Given the description of an element on the screen output the (x, y) to click on. 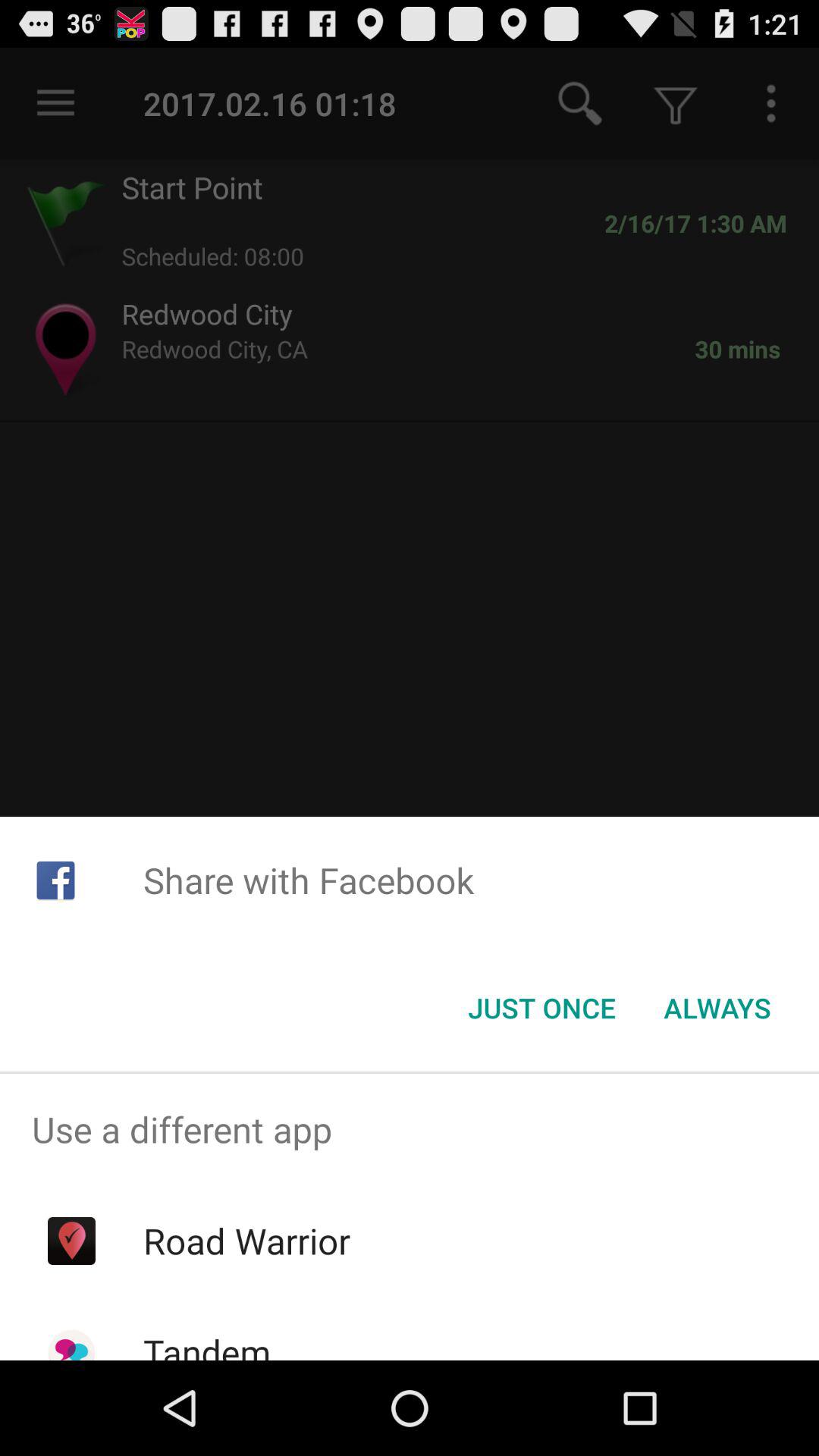
select the item below use a different icon (246, 1240)
